Given the description of an element on the screen output the (x, y) to click on. 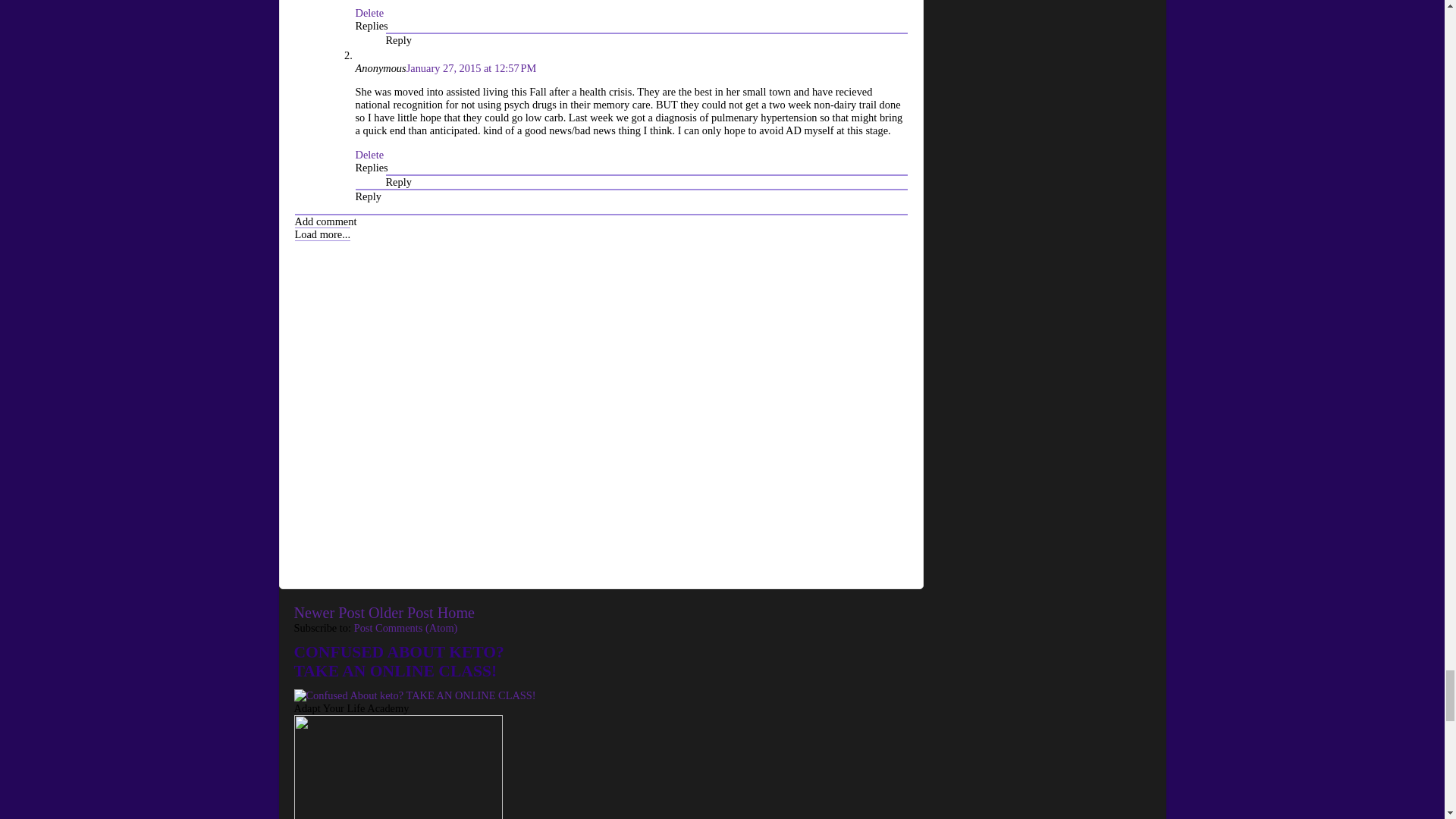
Older Post (400, 612)
Newer Post (329, 612)
